Given the description of an element on the screen output the (x, y) to click on. 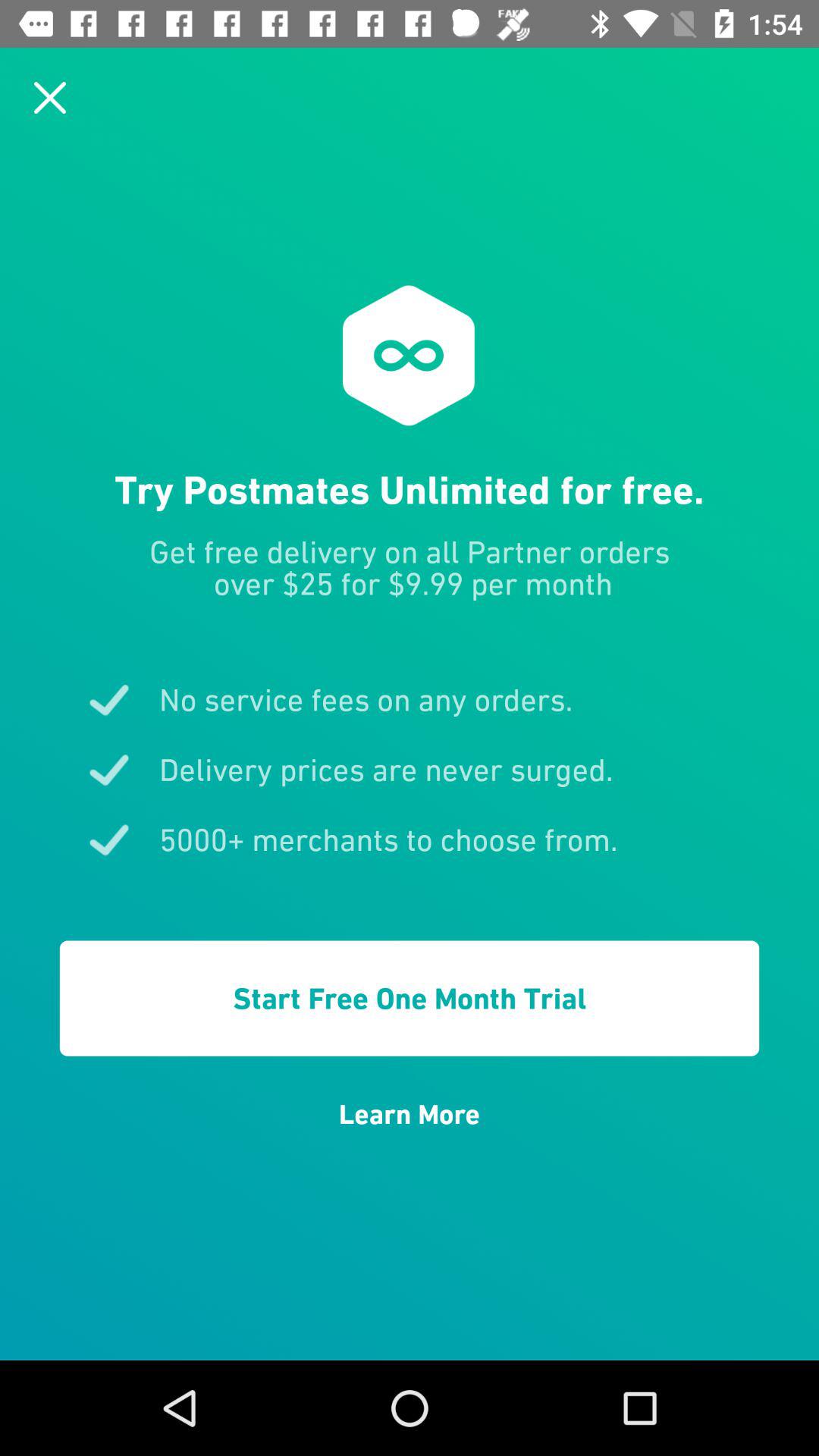
cancel (49, 97)
